Given the description of an element on the screen output the (x, y) to click on. 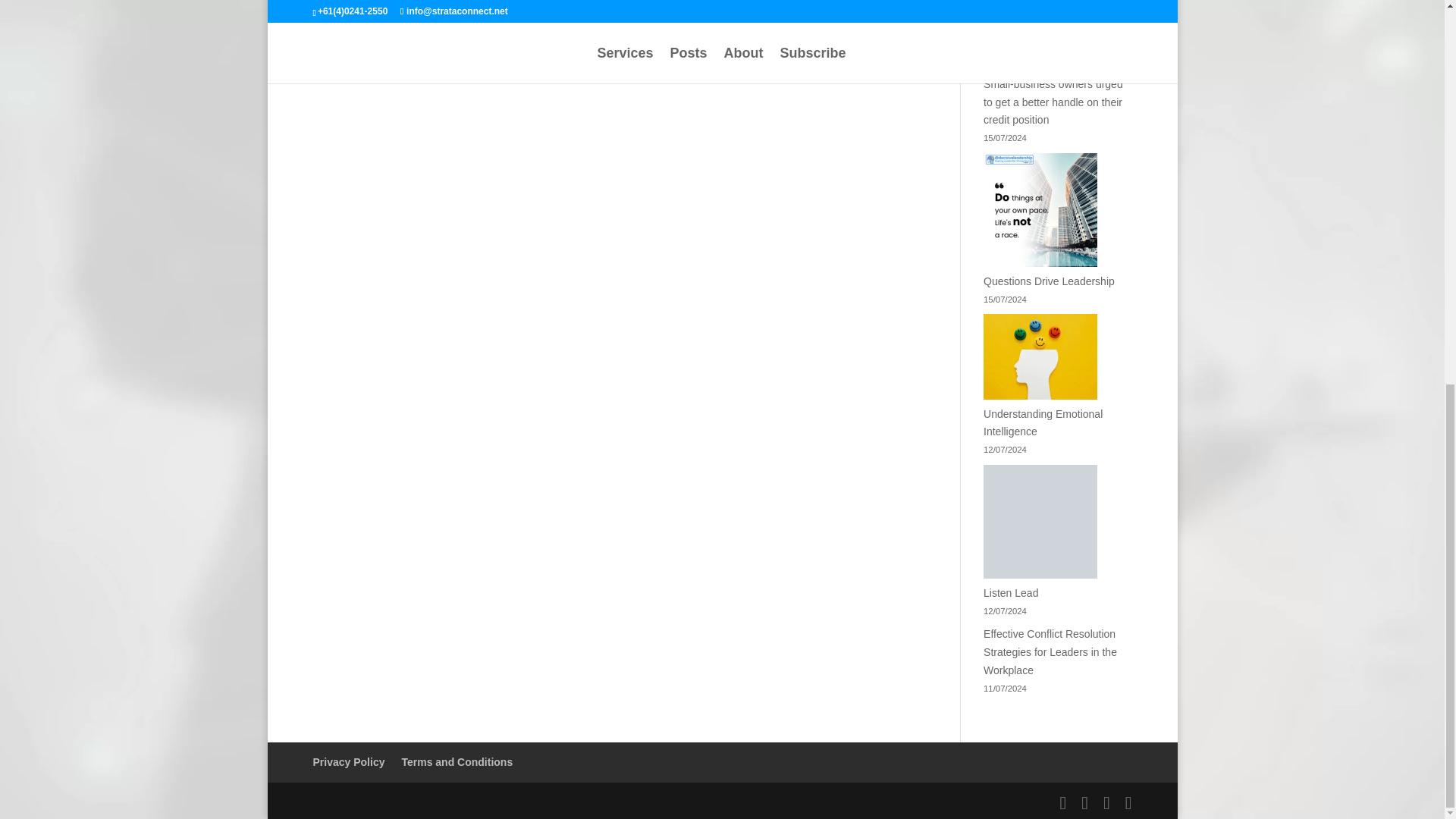
Questions Drive Leadership (1049, 281)
Terms and Conditions (456, 761)
Understanding Emotional Intelligence (1043, 422)
Privacy Policy (348, 761)
Listen Lead (1011, 592)
